Given the description of an element on the screen output the (x, y) to click on. 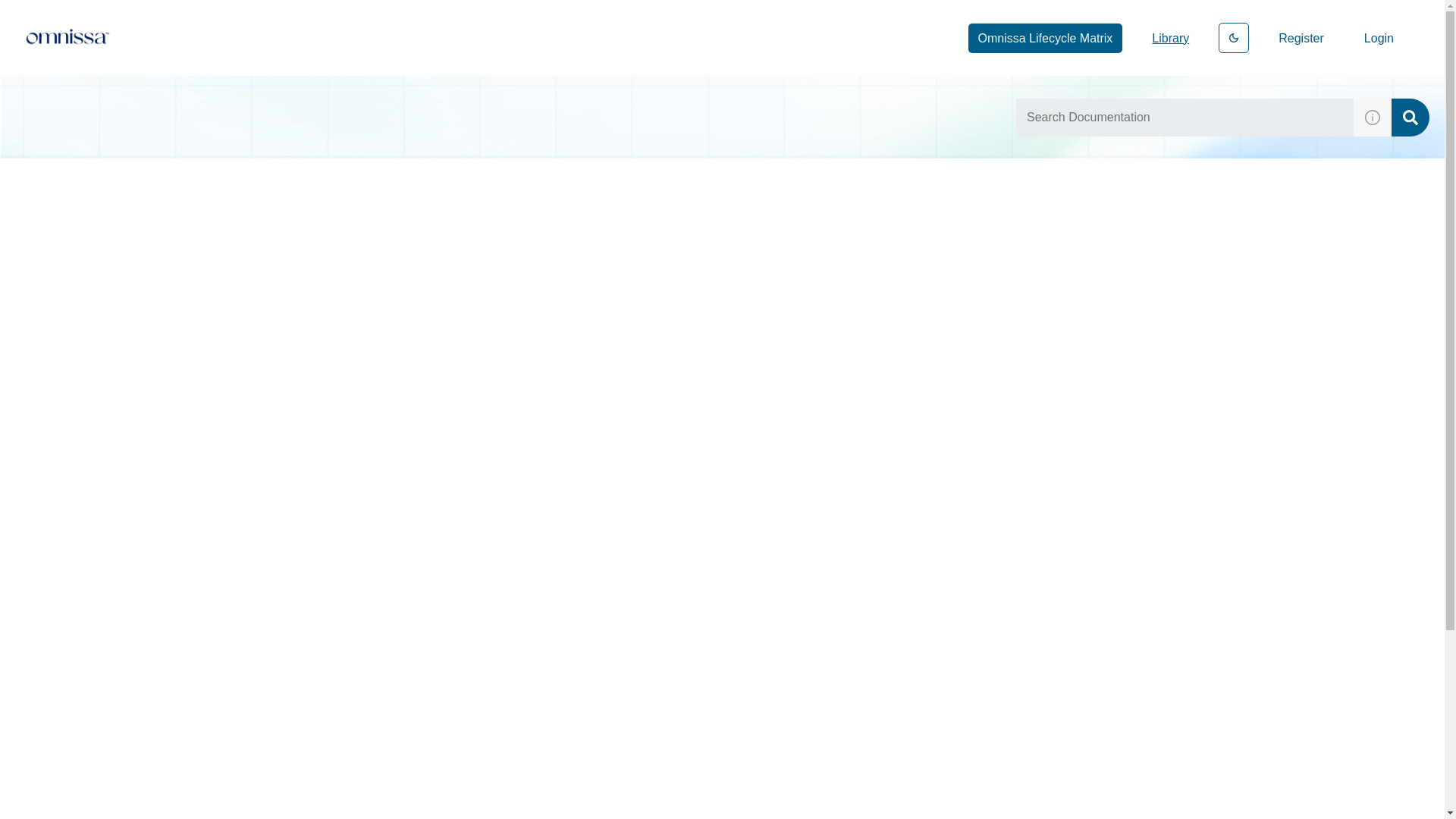
Library (1169, 37)
Omnissa Lifecycle Matrix (1045, 37)
Login (1379, 38)
Register (1300, 37)
